Given the description of an element on the screen output the (x, y) to click on. 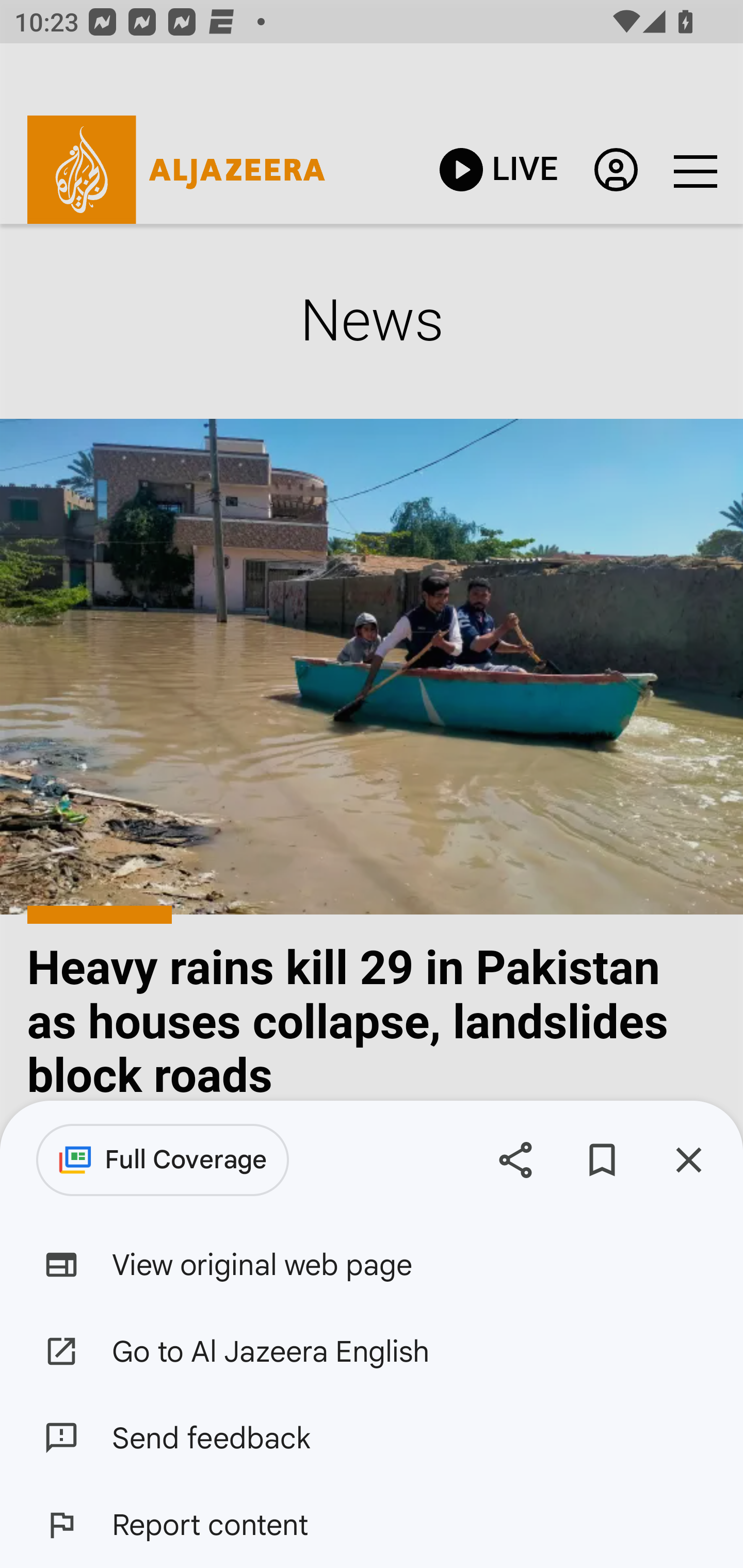
Share (514, 1159)
Save for later (601, 1159)
Close (688, 1159)
Full Coverage (162, 1160)
View original web page (371, 1264)
Go to Al Jazeera English (371, 1350)
Send feedback (371, 1437)
Report content (371, 1524)
